Given the description of an element on the screen output the (x, y) to click on. 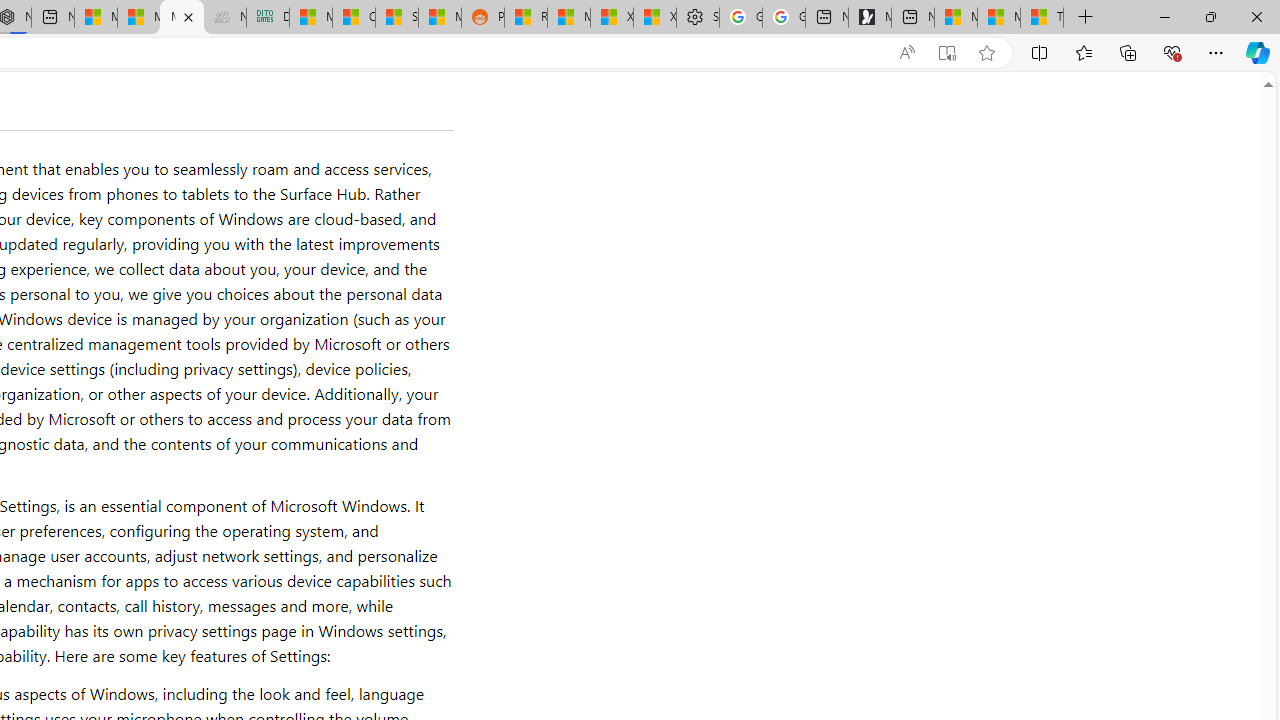
These 3 Stocks Pay You More Than 5% to Own Them (1042, 17)
Microsoft Start Gaming (869, 17)
Navy Quest (224, 17)
R******* | Trusted Community Engagement and Contributions (525, 17)
Enter Immersive Reader (F9) (946, 53)
